Given the description of an element on the screen output the (x, y) to click on. 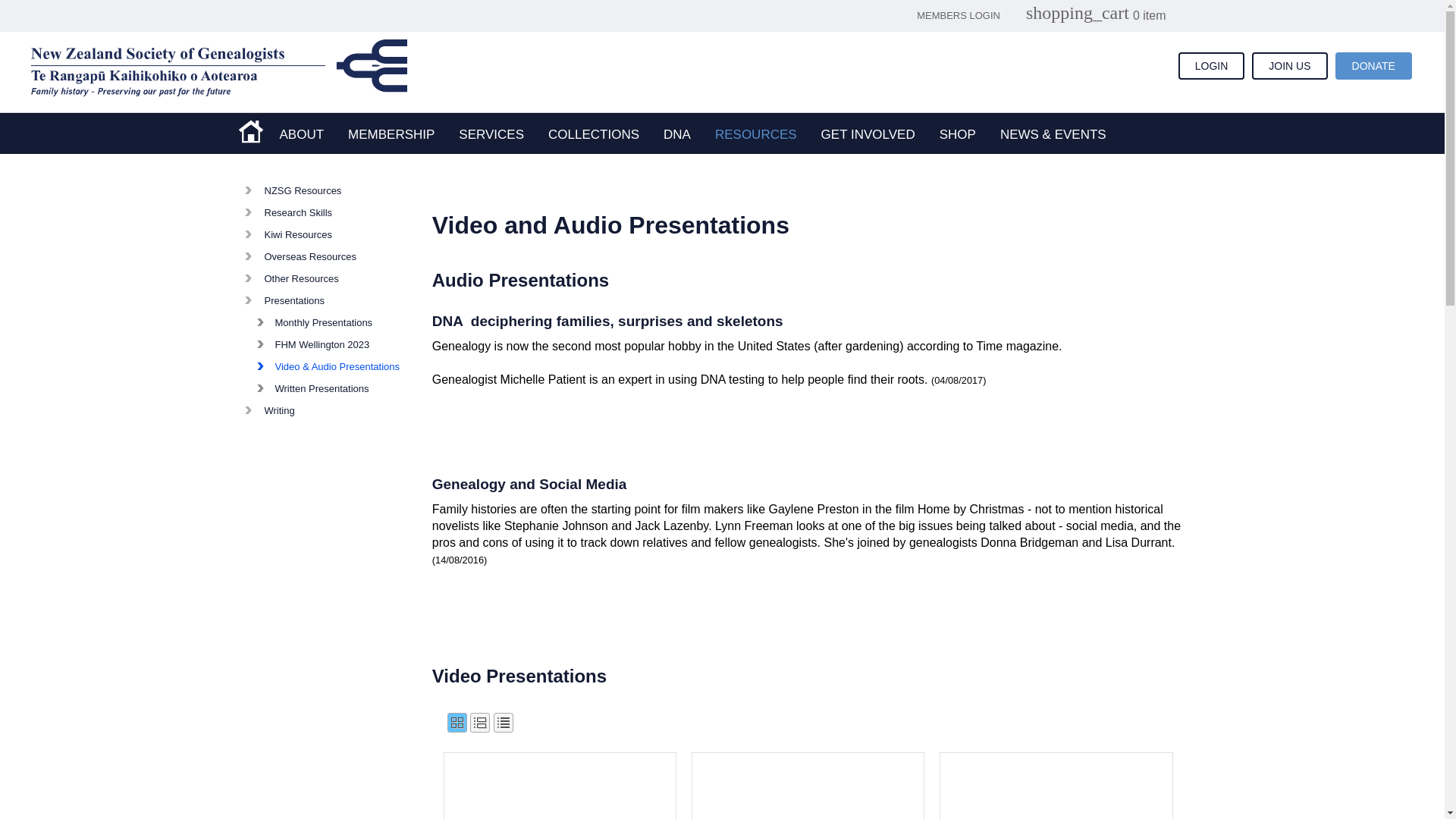
LOGIN (1210, 65)
MEMBERSHIP (391, 134)
SERVICES (490, 134)
JOIN US (1289, 65)
ABOUT (301, 134)
COLLECTIONS (592, 134)
MEMBERS LOGIN (958, 15)
DONATE (1373, 65)
DNA (676, 134)
